Given the description of an element on the screen output the (x, y) to click on. 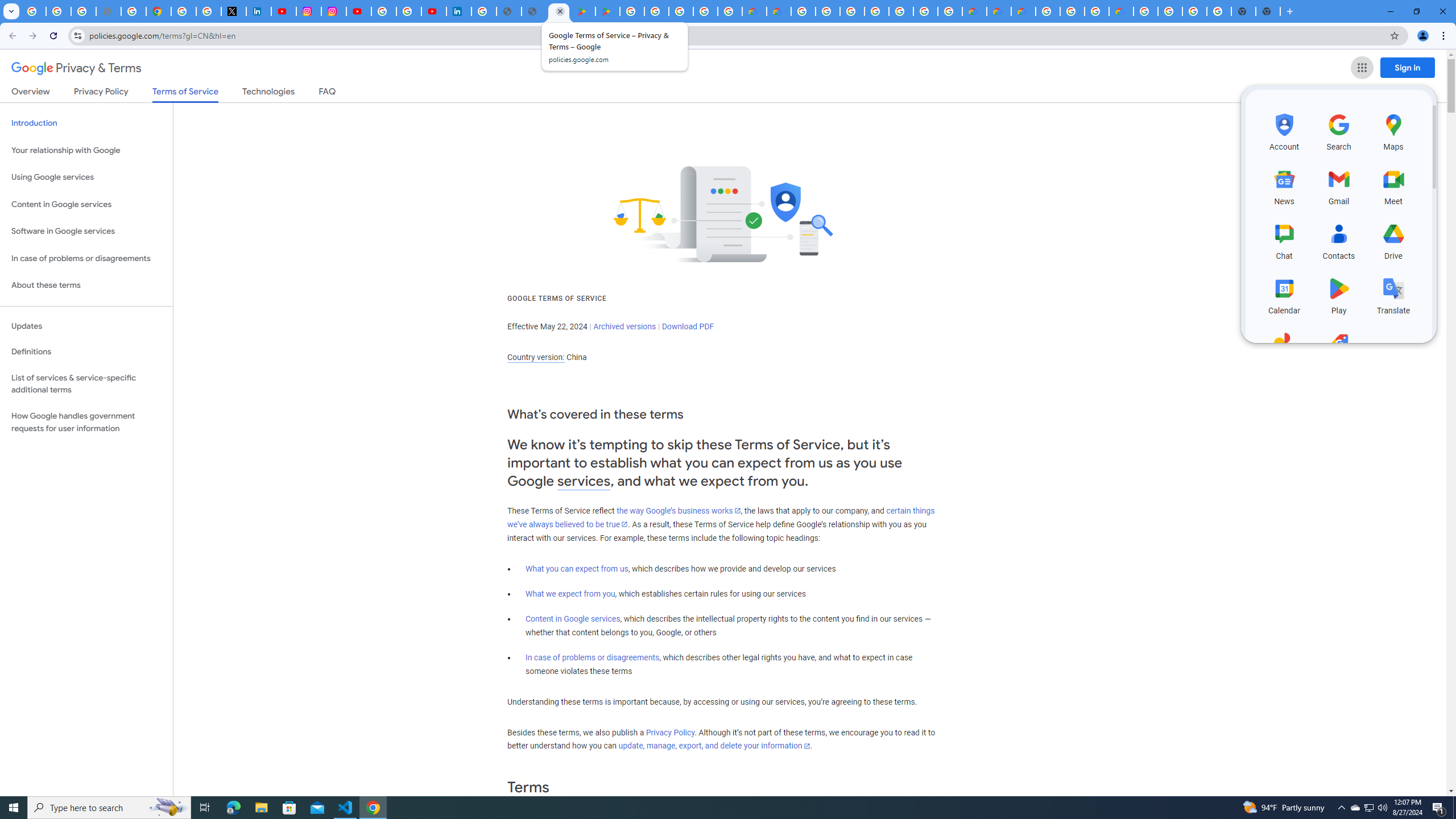
Address and search bar (735, 35)
X (233, 11)
update, manage, export, and delete your information (714, 746)
New Tab (1267, 11)
List of services & service-specific additional terms (86, 383)
Android Apps on Google Play (582, 11)
Sign in (1407, 67)
Introduction (86, 122)
